Given the description of an element on the screen output the (x, y) to click on. 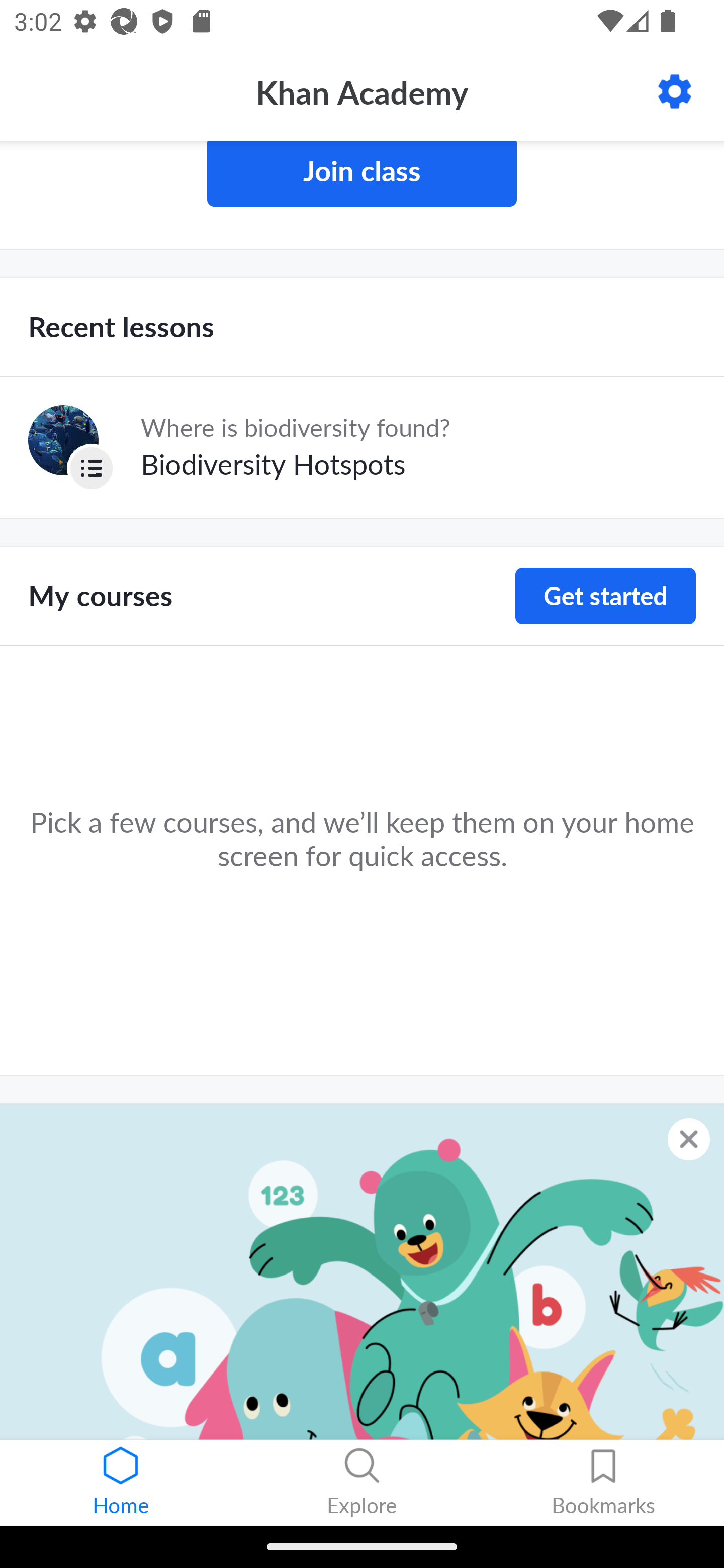
Settings (674, 91)
Join class (361, 173)
Get started (605, 595)
Dismiss (688, 1138)
Home (120, 1482)
Explore (361, 1482)
Bookmarks (603, 1482)
